Given the description of an element on the screen output the (x, y) to click on. 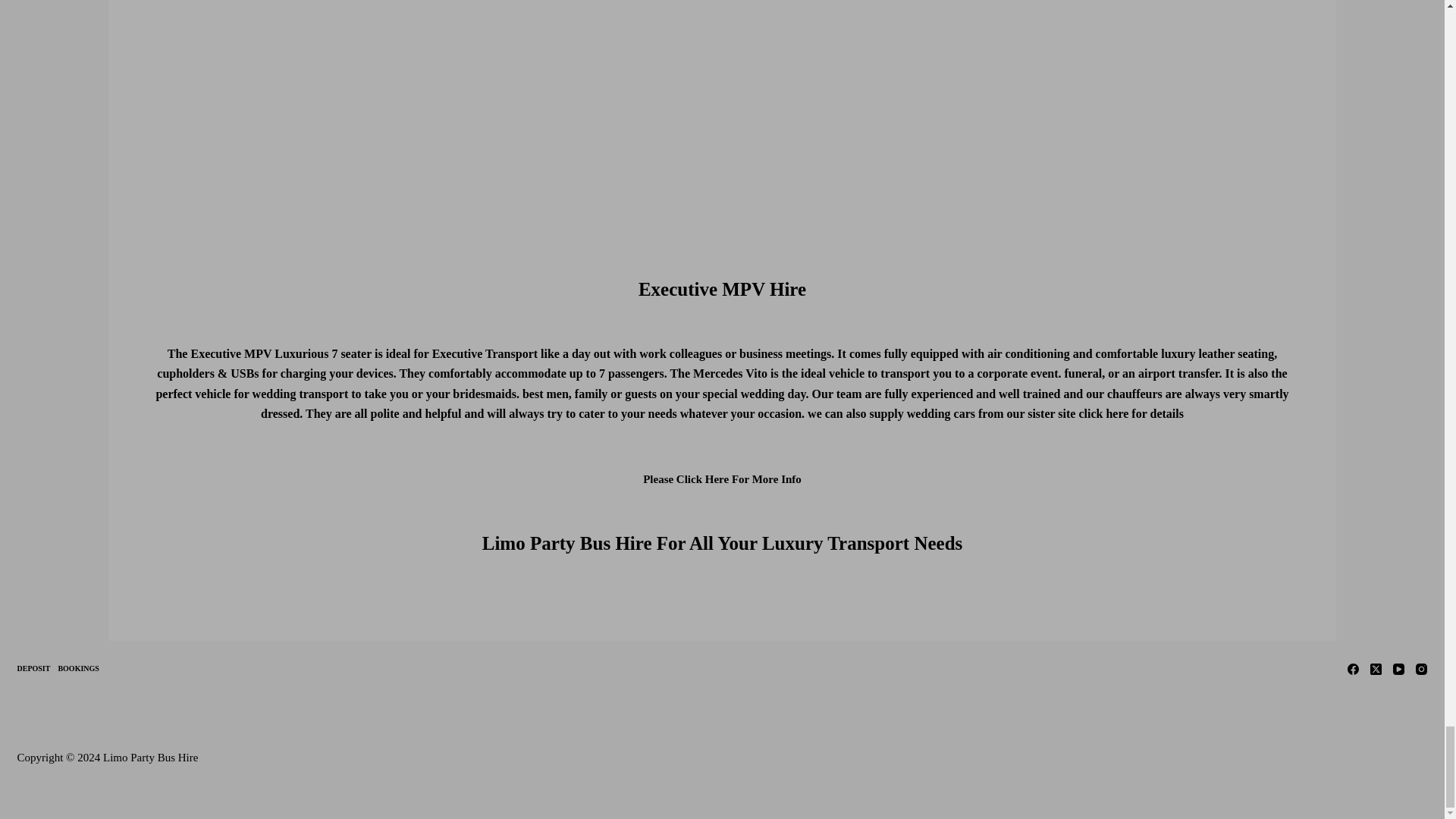
Please Click Here For More Info (722, 479)
DEPOSIT (34, 668)
click here for details (1130, 413)
BOOKINGS (77, 668)
